Given the description of an element on the screen output the (x, y) to click on. 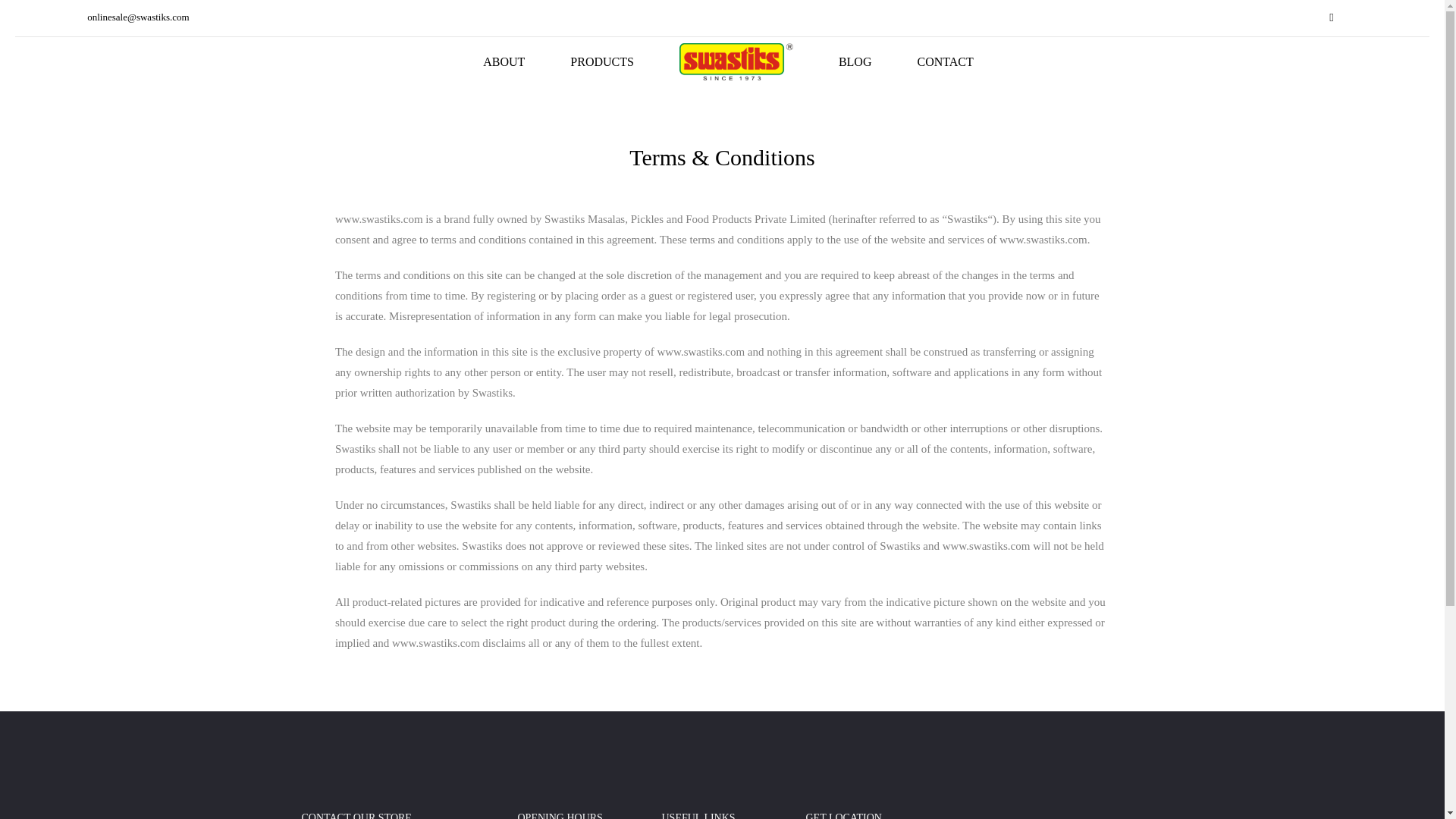
PRODUCTS (601, 61)
www.swastiks.com (378, 218)
BLOG (855, 61)
ABOUT (503, 61)
CONTACT (944, 61)
